Given the description of an element on the screen output the (x, y) to click on. 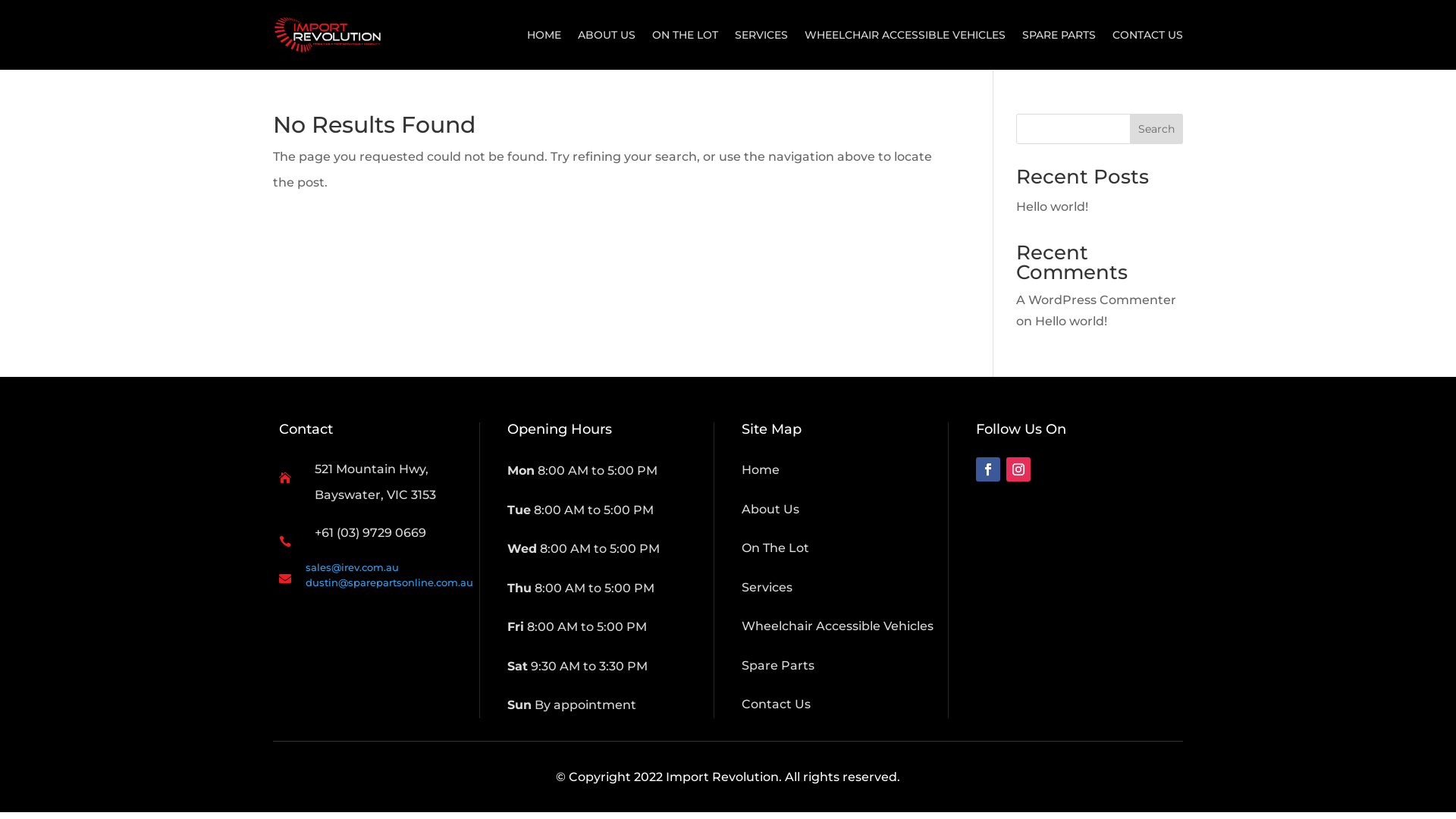
WHEELCHAIR ACCESSIBLE VEHICLES Element type: text (904, 34)
SERVICES Element type: text (760, 34)
sales@irev.com.au Element type: text (351, 567)
dustin@sparepartsonline.com.au Element type: text (389, 582)
SPARE PARTS Element type: text (1058, 34)
Follow on Instagram Element type: hover (1018, 469)
HOME Element type: text (544, 34)
Follow on Facebook Element type: hover (987, 469)
ON THE LOT Element type: text (685, 34)
Hello world! Element type: text (1070, 320)
CONTACT US Element type: text (1147, 34)
ABOUT US Element type: text (606, 34)
Search Element type: text (1156, 128)
A WordPress Commenter Element type: text (1096, 299)
Hello world! Element type: text (1052, 206)
